Given the description of an element on the screen output the (x, y) to click on. 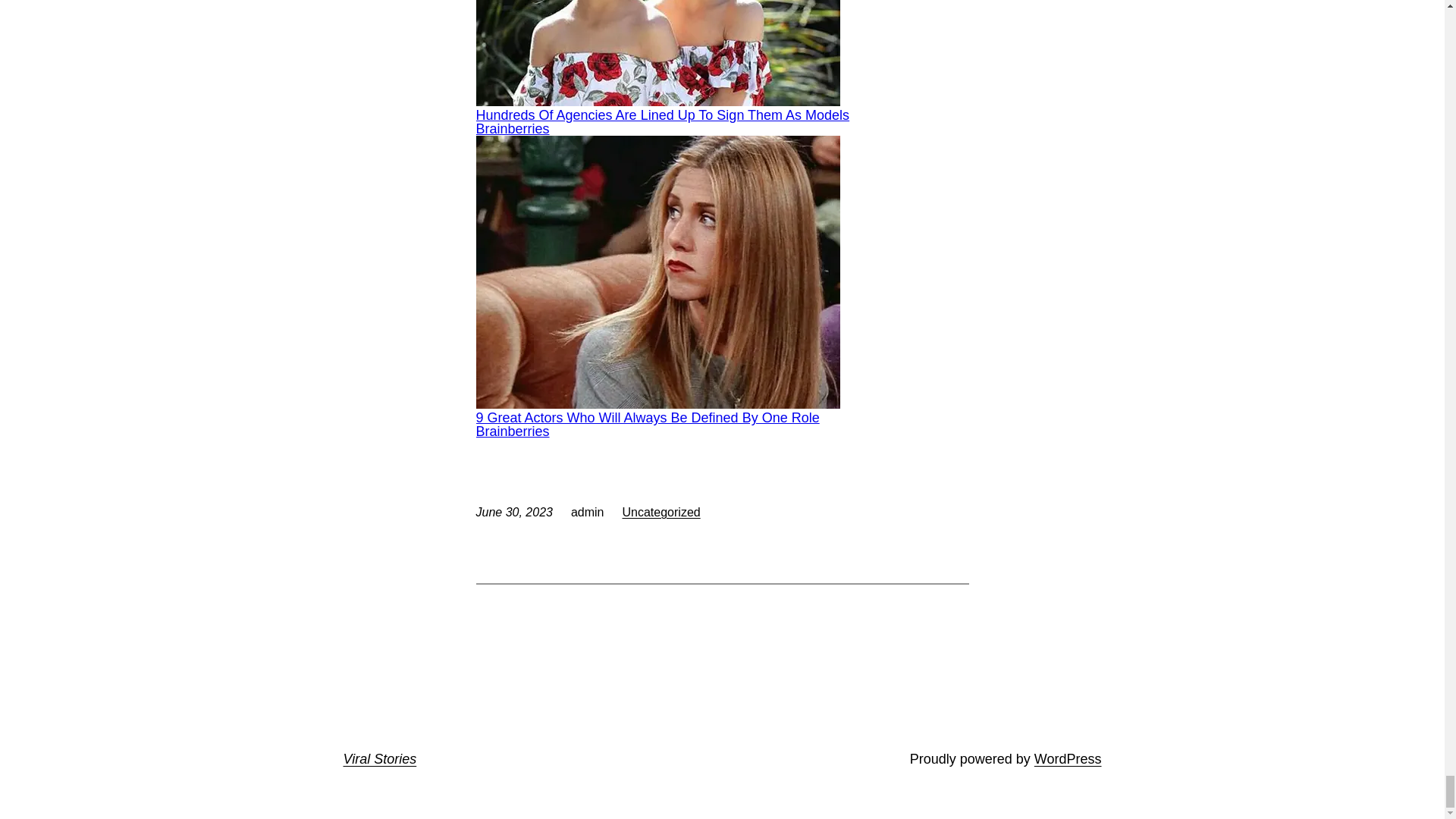
Viral Stories (379, 758)
Uncategorized (660, 512)
WordPress (1067, 758)
